Given the description of an element on the screen output the (x, y) to click on. 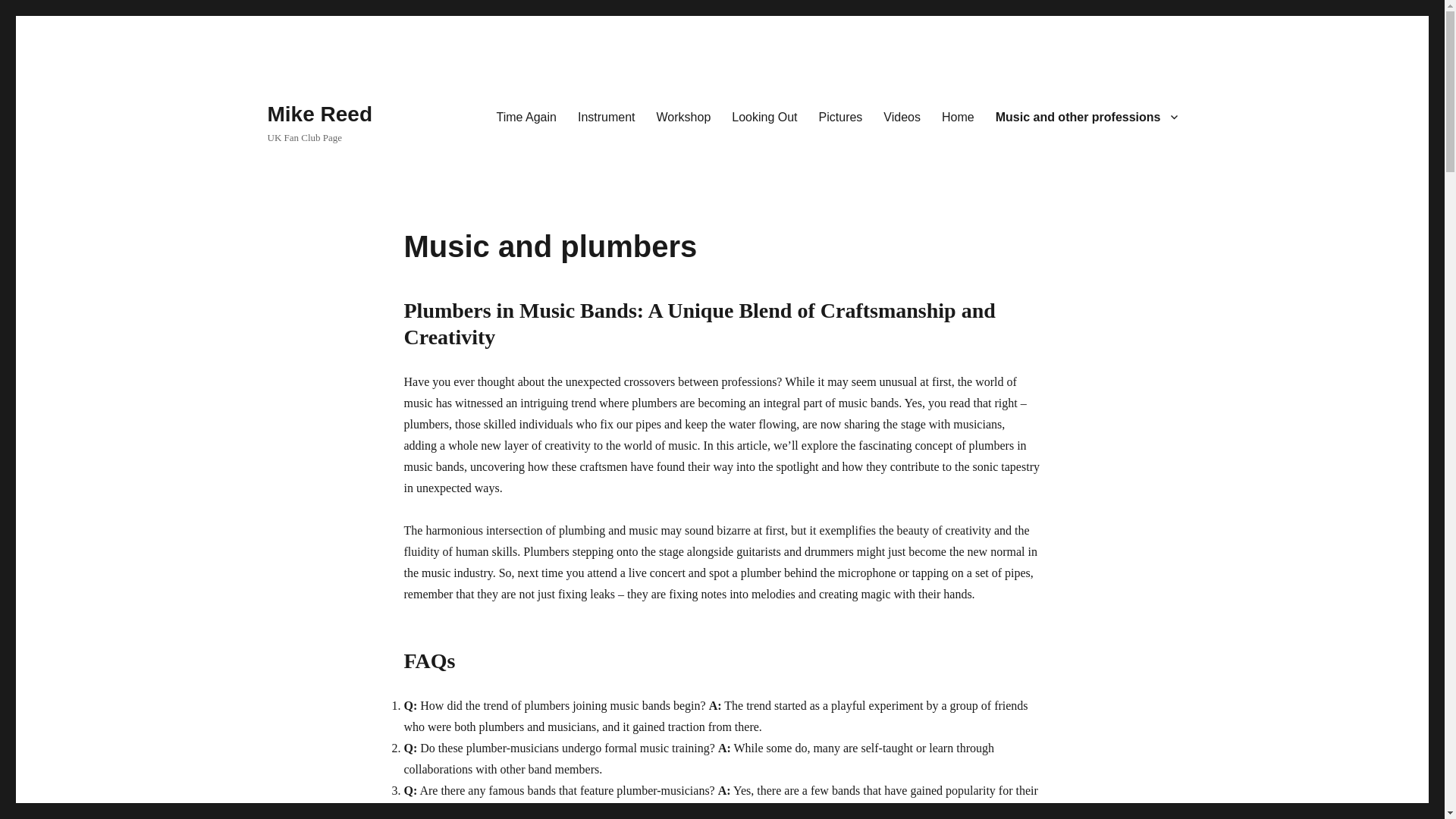
Home (958, 116)
Mike Reed (319, 114)
Looking Out (764, 116)
Workshop (684, 116)
Time Again (525, 116)
Videos (901, 116)
Instrument (606, 116)
Pictures (840, 116)
Music and other professions (1086, 116)
